Given the description of an element on the screen output the (x, y) to click on. 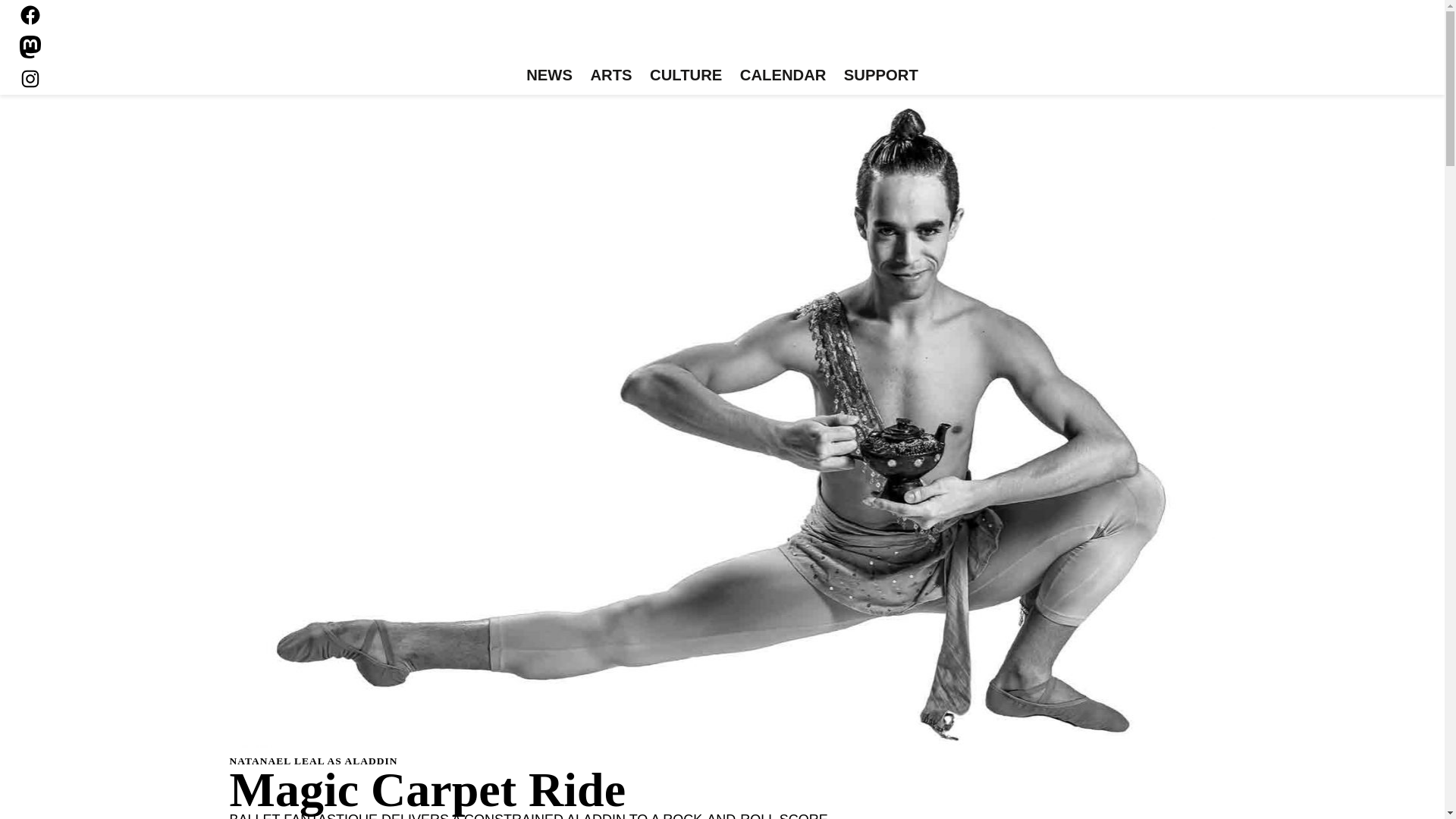
Instagram (30, 78)
Mastodon (30, 47)
ARTS (611, 75)
Eugene Weekly (721, 37)
SUPPORT (880, 75)
CULTURE (685, 75)
NEWS (548, 75)
Facebook (30, 15)
CALENDAR (782, 75)
